Given the description of an element on the screen output the (x, y) to click on. 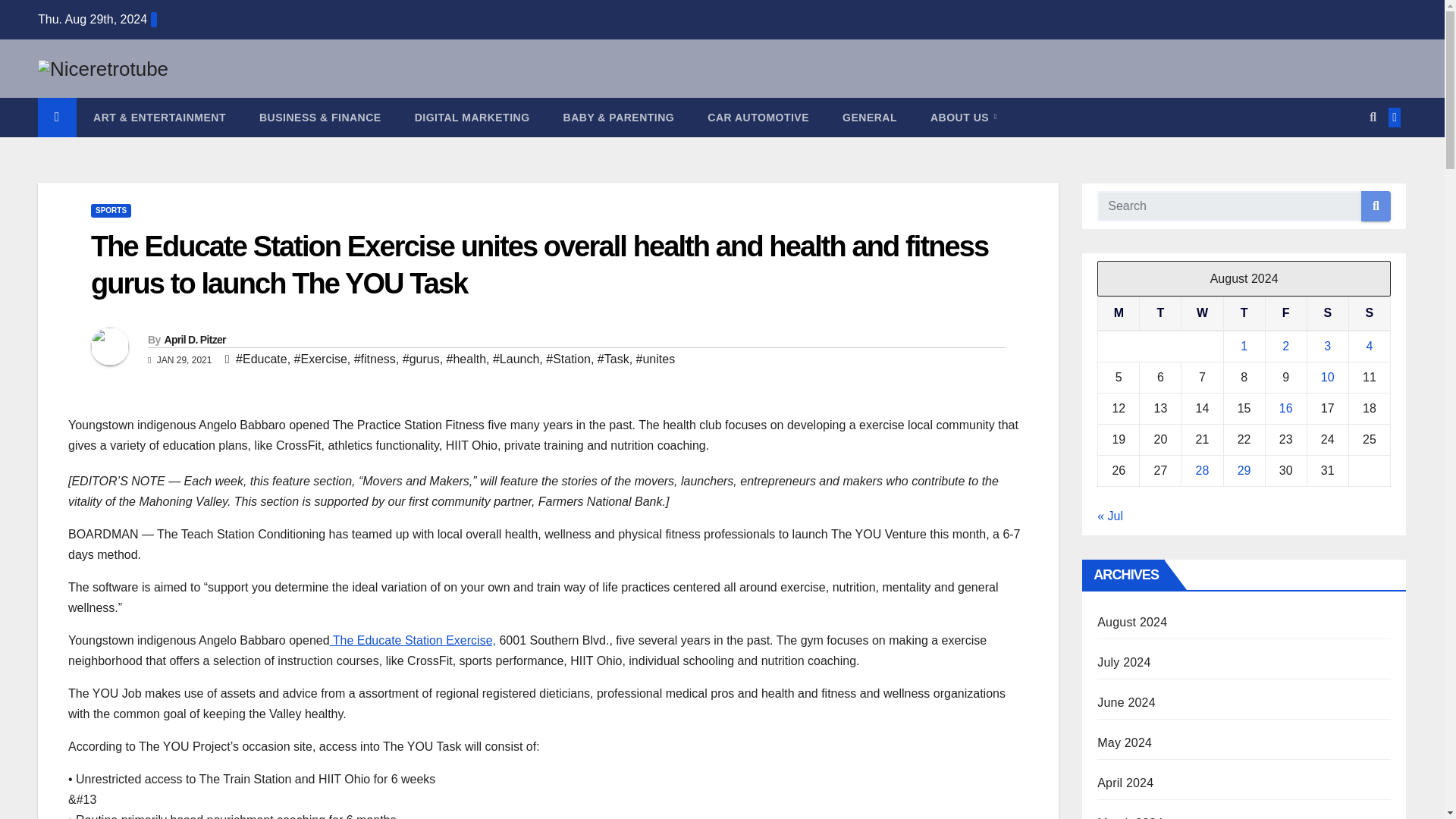
Digital Marketing (472, 117)
ABOUT US (963, 117)
The Educate Station Exercise, (413, 640)
DIGITAL MARKETING (472, 117)
CAR AUTOMOTIVE (757, 117)
April D. Pitzer (194, 339)
General (869, 117)
SPORTS (110, 210)
Car Automotive (757, 117)
